Given the description of an element on the screen output the (x, y) to click on. 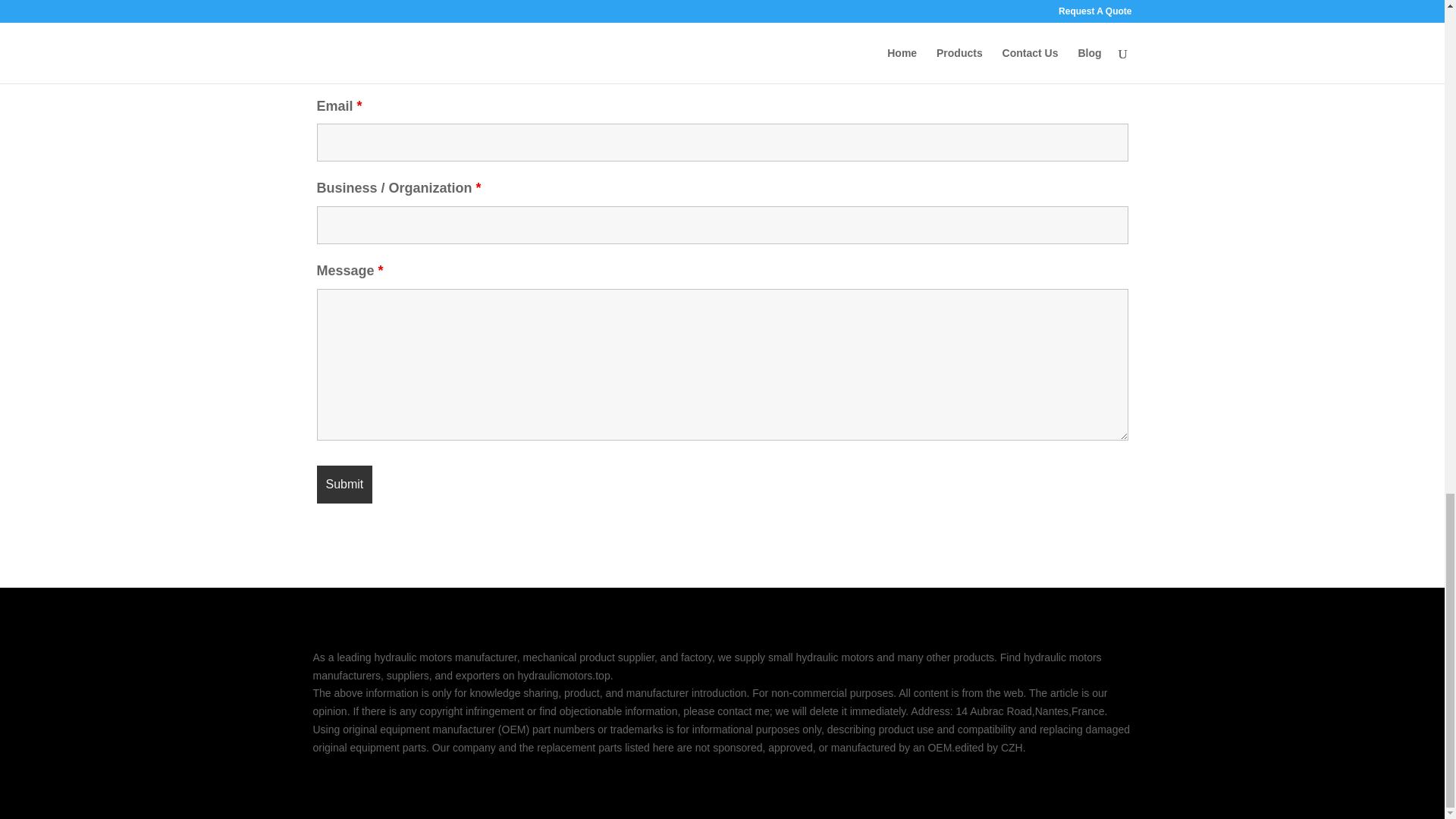
Submit (344, 484)
Submit (344, 484)
